Given the description of an element on the screen output the (x, y) to click on. 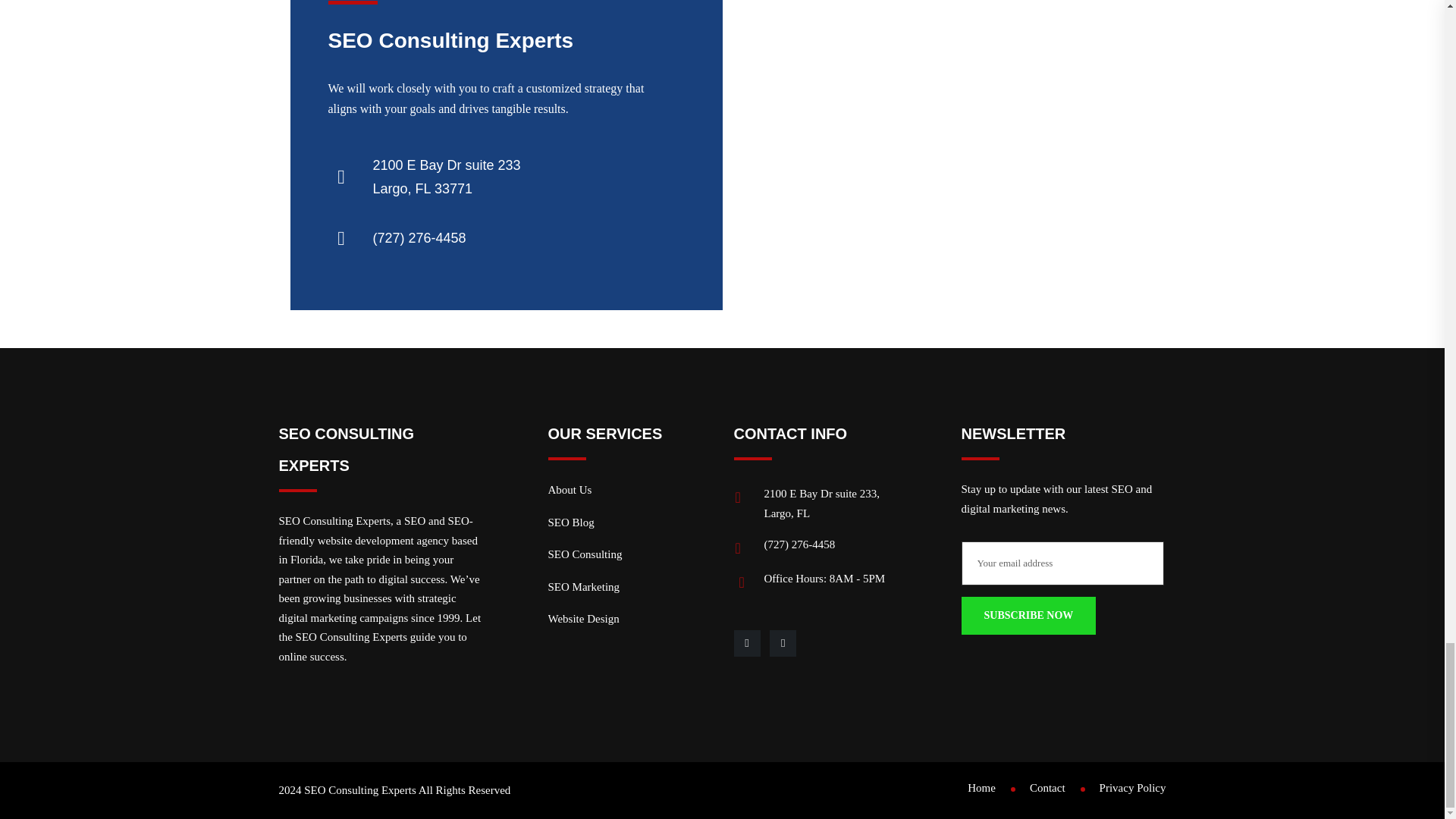
Subscribe Now (1028, 615)
